Given the description of an element on the screen output the (x, y) to click on. 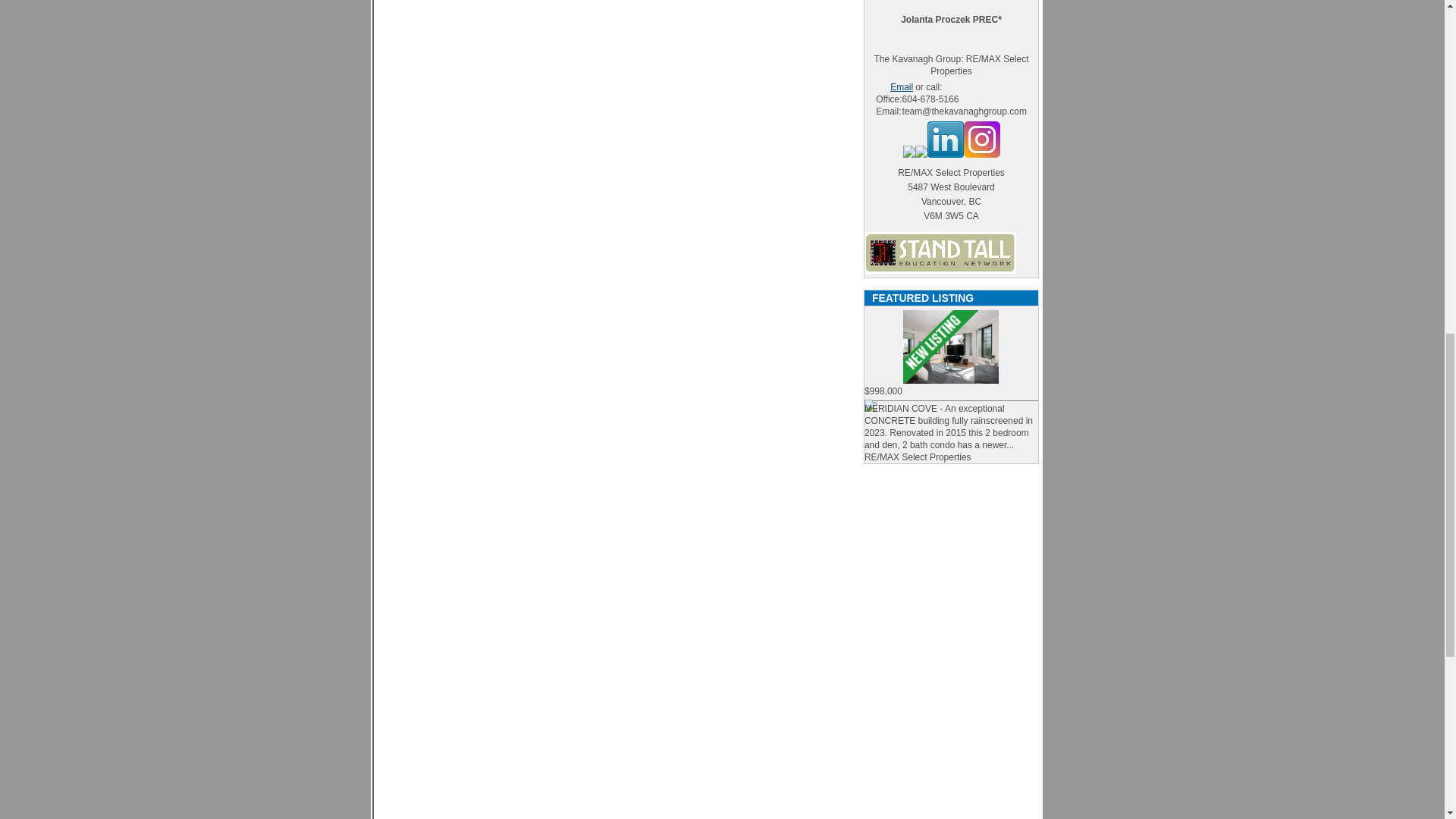
Email (894, 86)
